Given the description of an element on the screen output the (x, y) to click on. 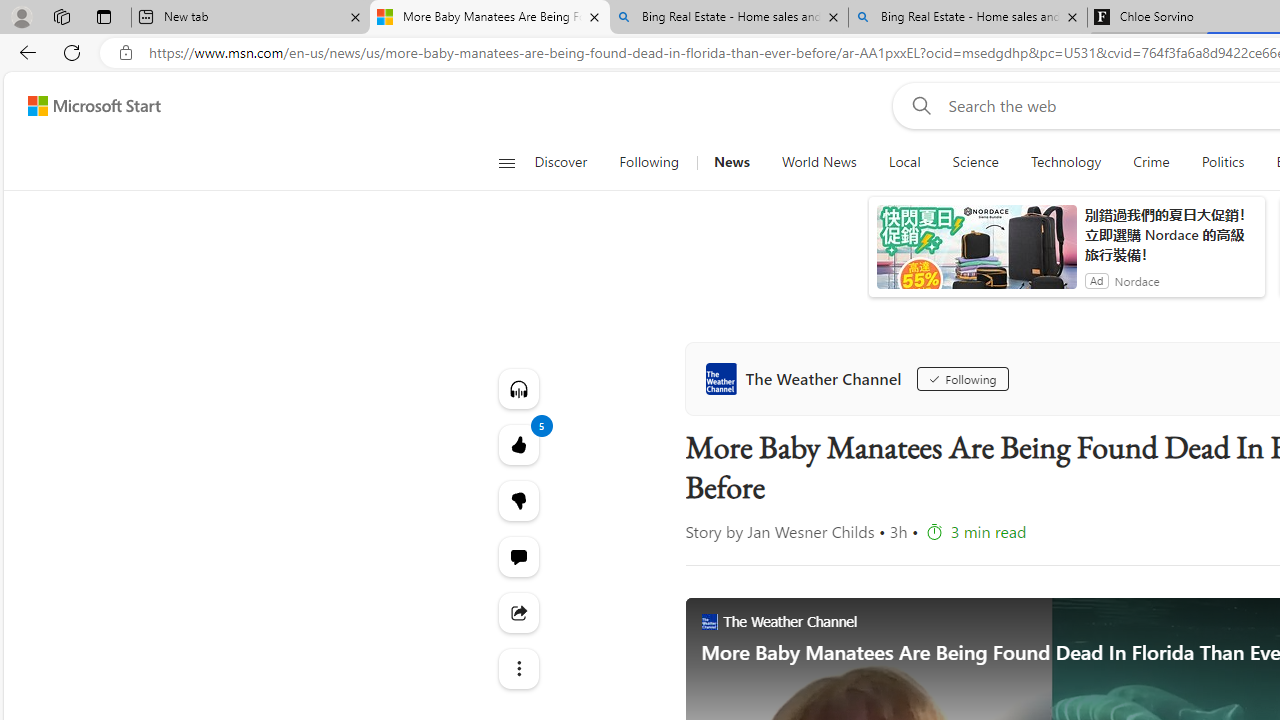
anim-content (975, 255)
Following (649, 162)
5 Like (517, 444)
News (731, 162)
Dislike (517, 500)
See more (517, 668)
